Given the description of an element on the screen output the (x, y) to click on. 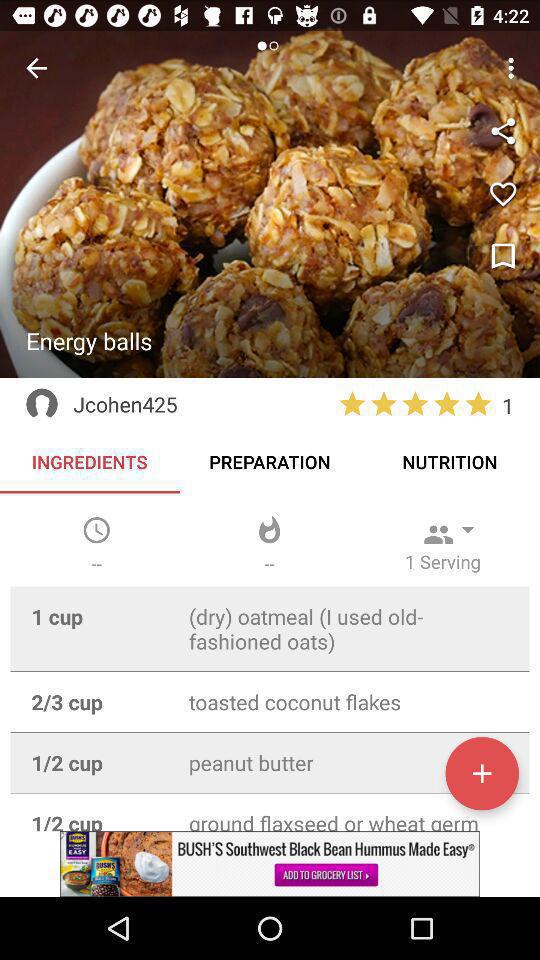
like button (503, 257)
